Given the description of an element on the screen output the (x, y) to click on. 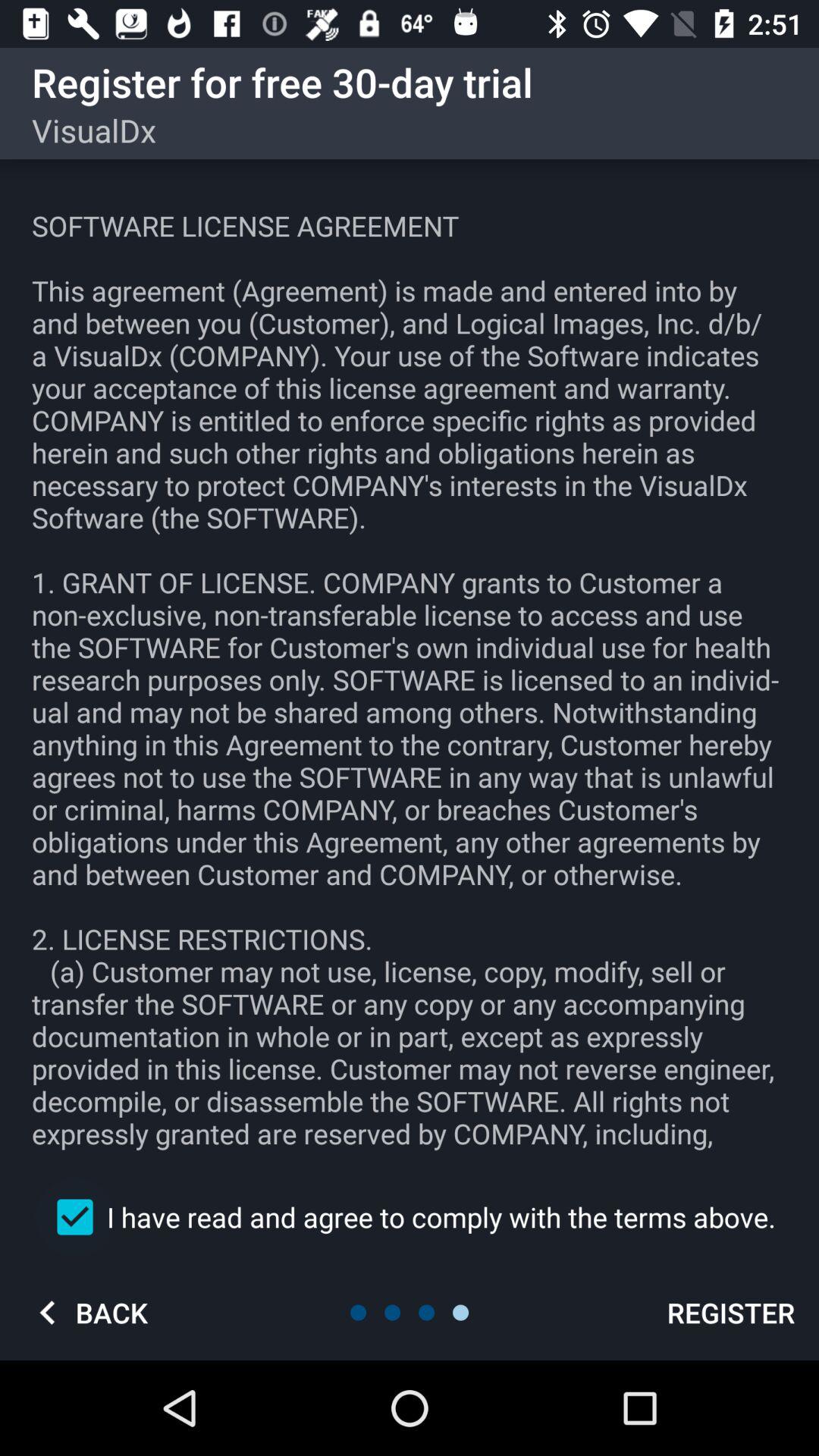
select the item above the back icon (409, 1216)
